Given the description of an element on the screen output the (x, y) to click on. 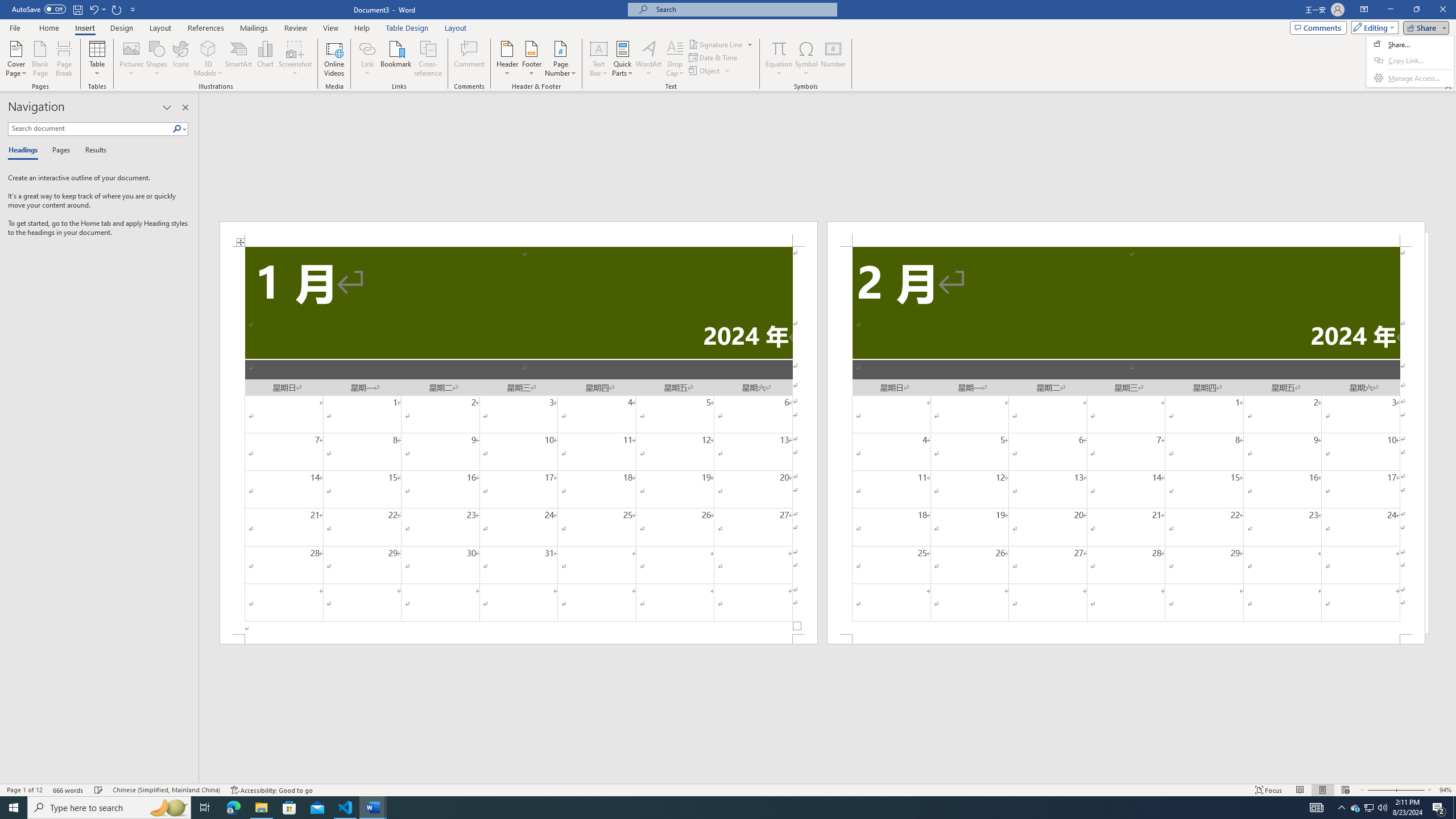
Word - 2 running windows (373, 807)
Shapes (156, 58)
